Given the description of an element on the screen output the (x, y) to click on. 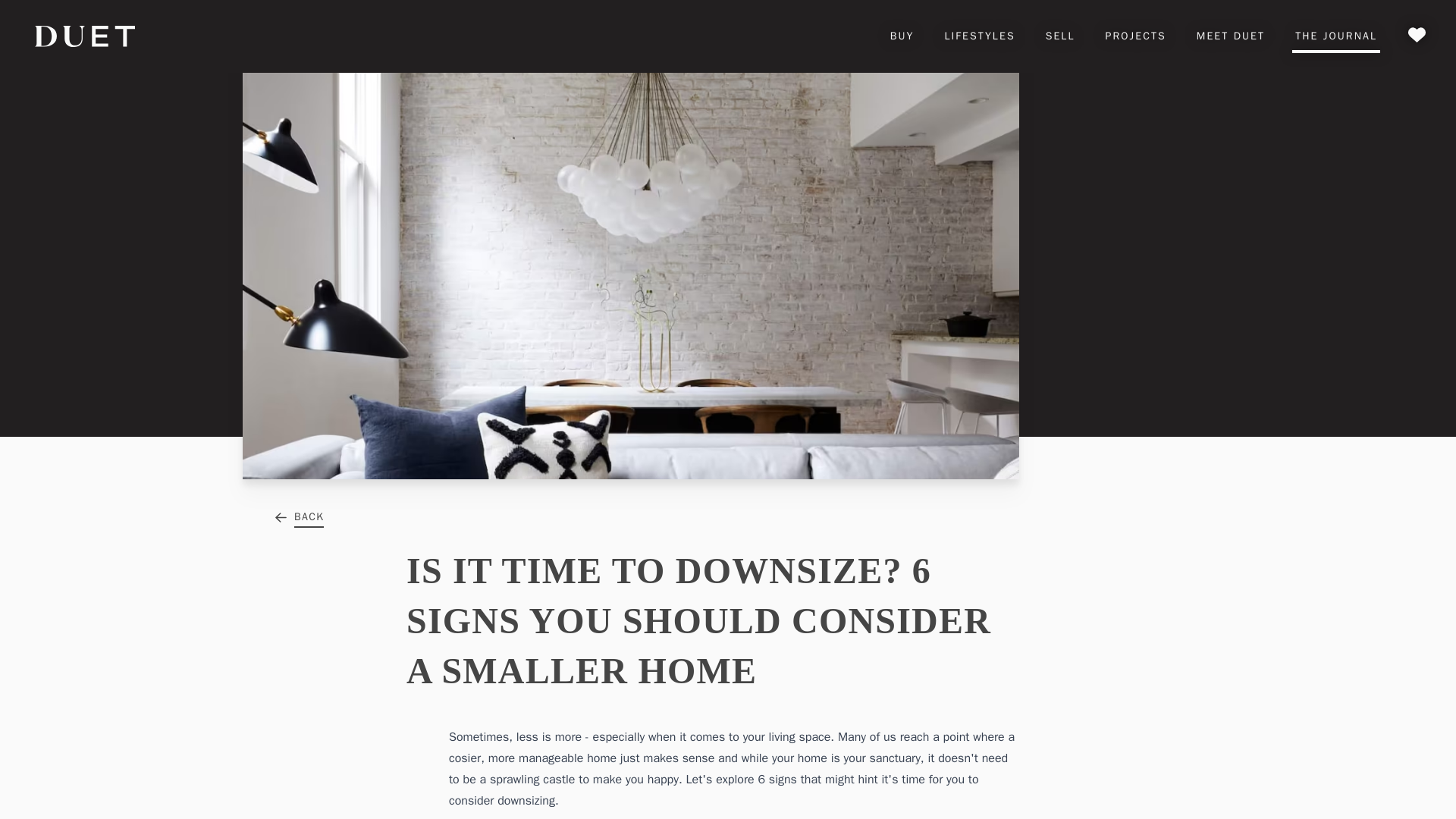
MEET DUET (1229, 35)
PROJECTS (1135, 35)
LIFESTYLES (978, 35)
THE JOURNAL (1335, 35)
FAVOURITES (1416, 35)
BACK (298, 516)
SELL (1060, 35)
BUY (902, 35)
